Given the description of an element on the screen output the (x, y) to click on. 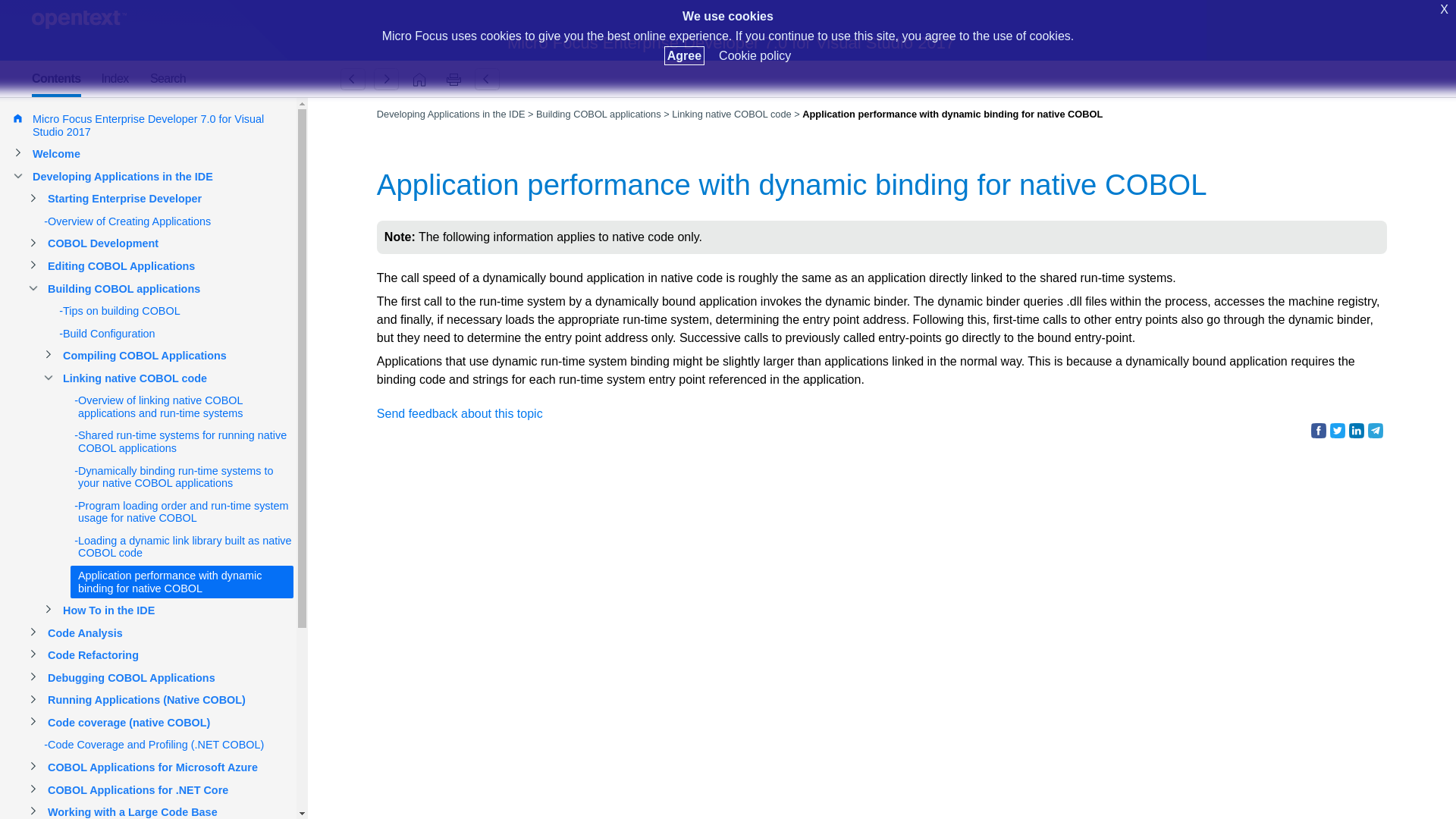
Agree (684, 55)
Loading a dynamic link library built as native COBOL code (352, 78)
Cookie policy (754, 55)
How To in the IDE (386, 78)
